Given the description of an element on the screen output the (x, y) to click on. 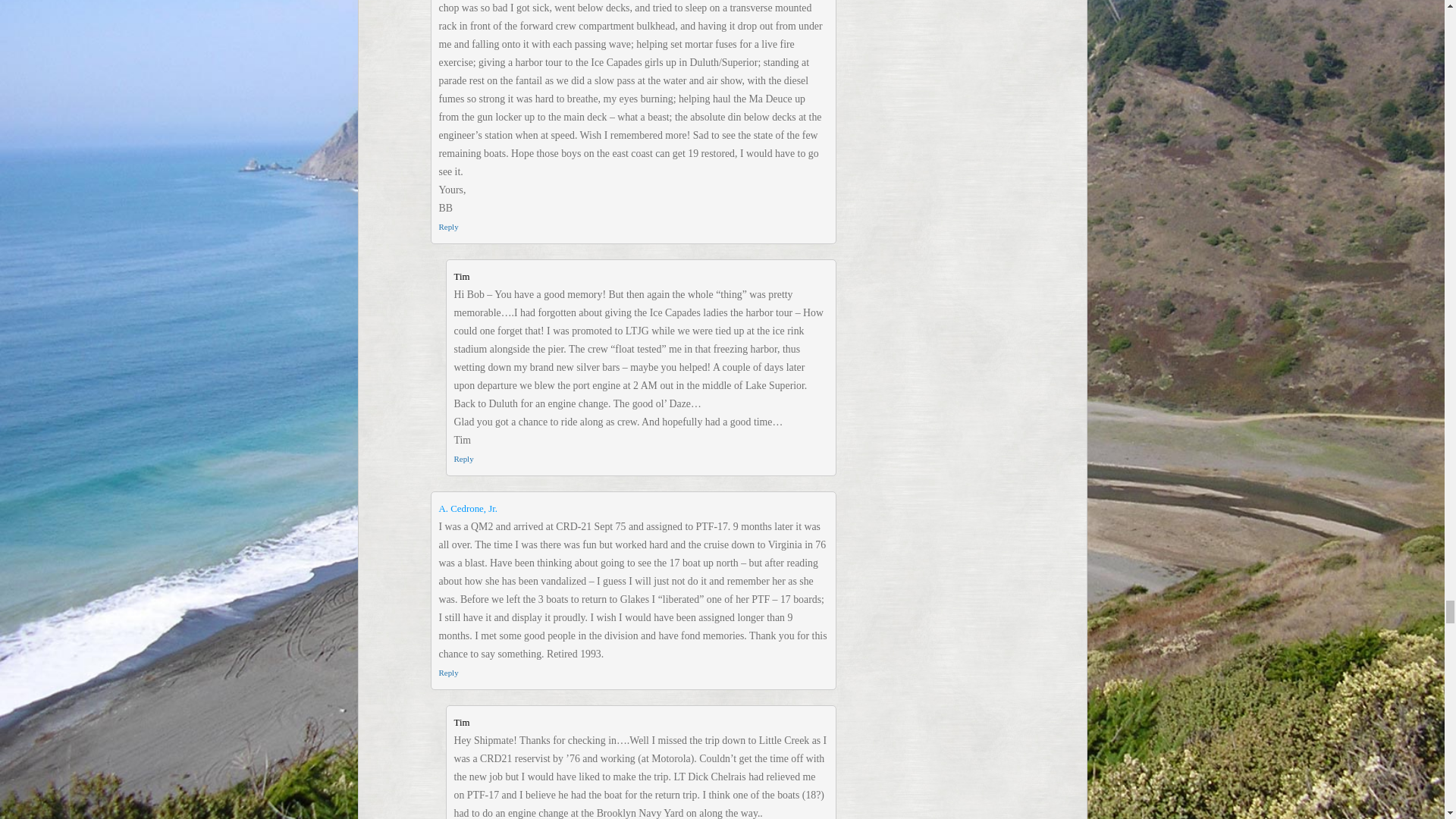
Reply (448, 672)
Reply (448, 225)
A. Cedrone, Jr. (467, 508)
Reply (462, 458)
